Given the description of an element on the screen output the (x, y) to click on. 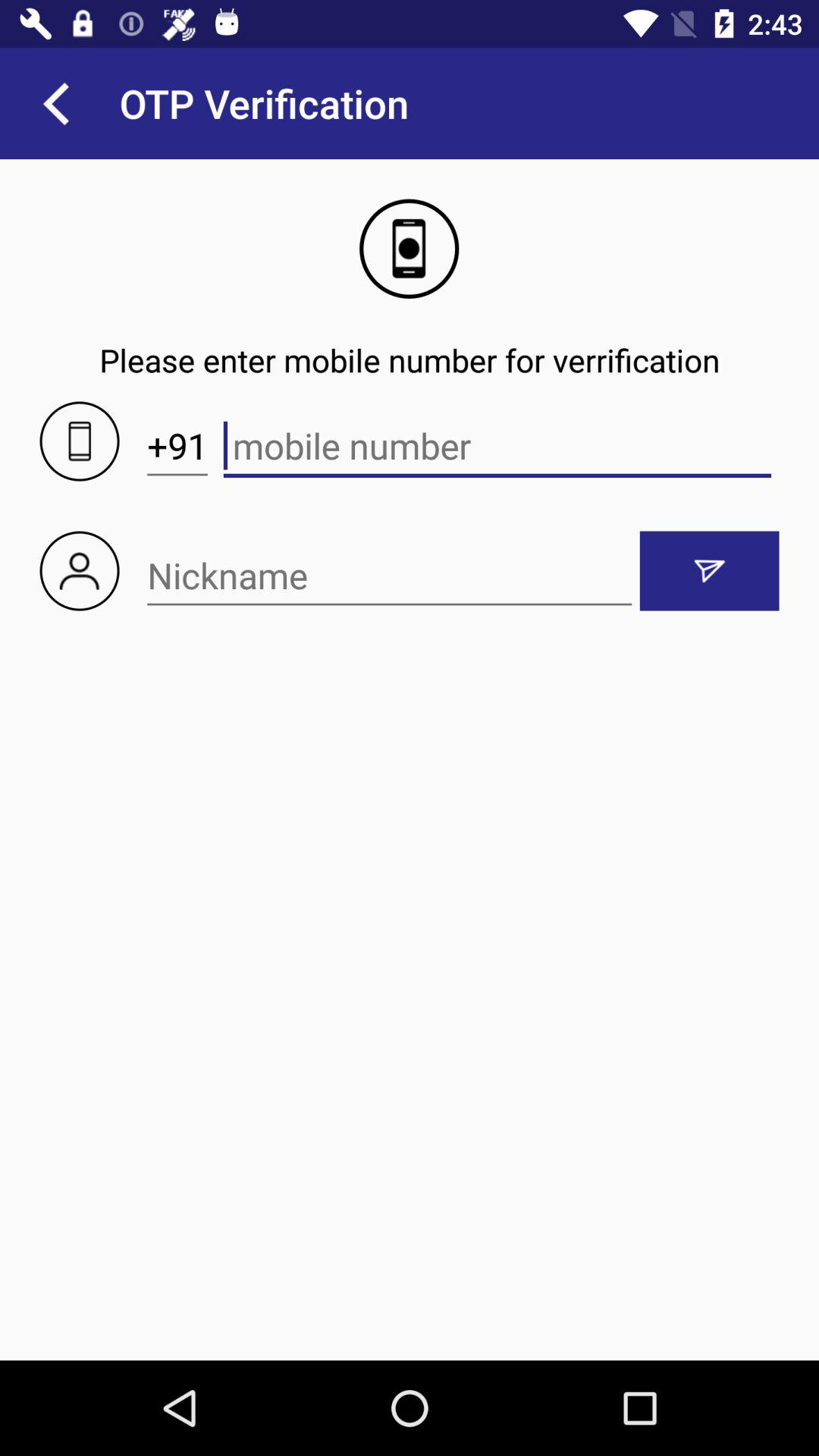
tap the icon on the right (709, 570)
